Given the description of an element on the screen output the (x, y) to click on. 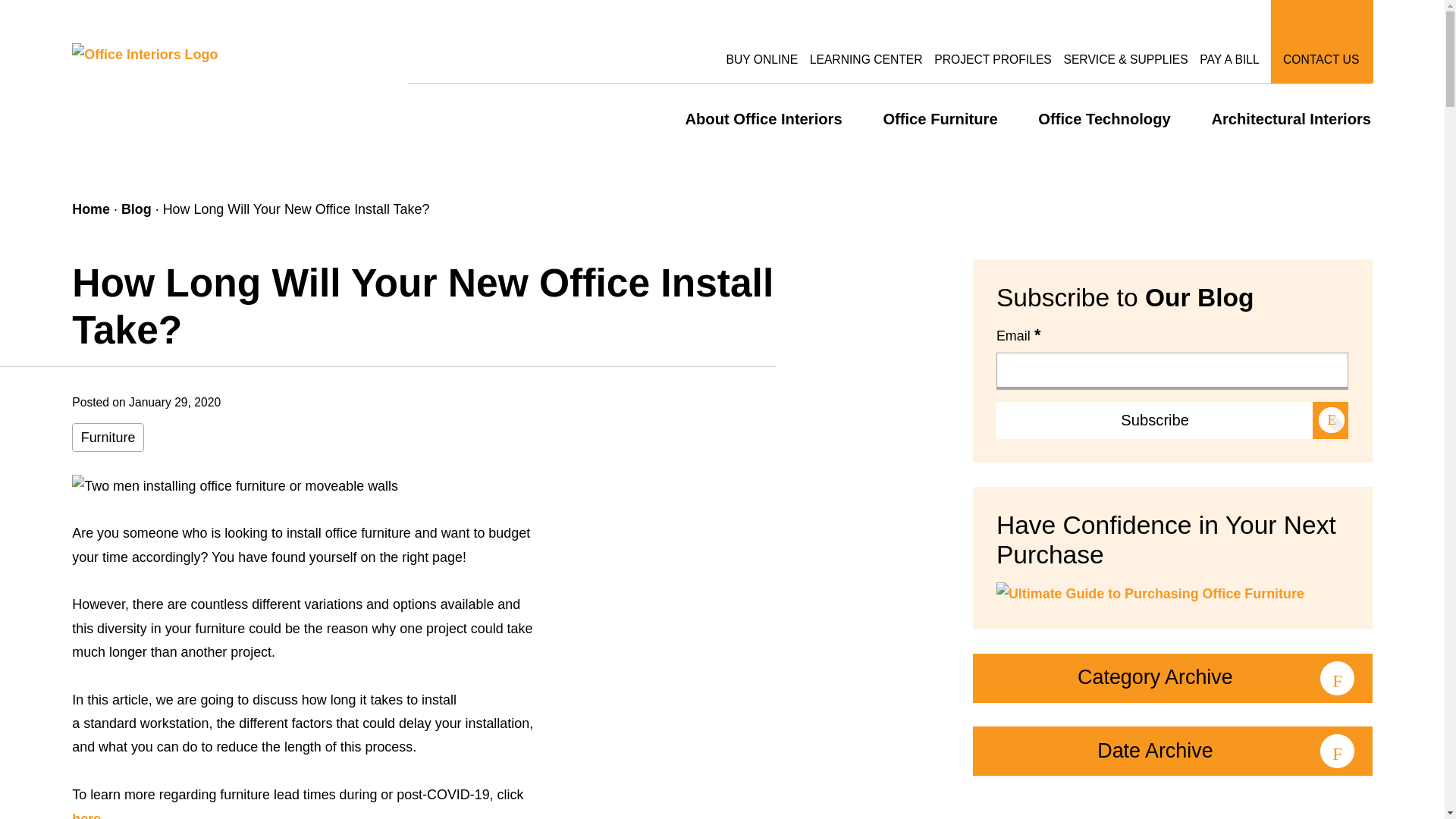
Office Interiors (143, 53)
PROJECT PROFILES (992, 41)
About Office Interiors (762, 108)
CONTACT US (1320, 41)
LEARNING CENTER (866, 41)
Office Furniture (939, 108)
Subscribe (1171, 420)
